Given the description of an element on the screen output the (x, y) to click on. 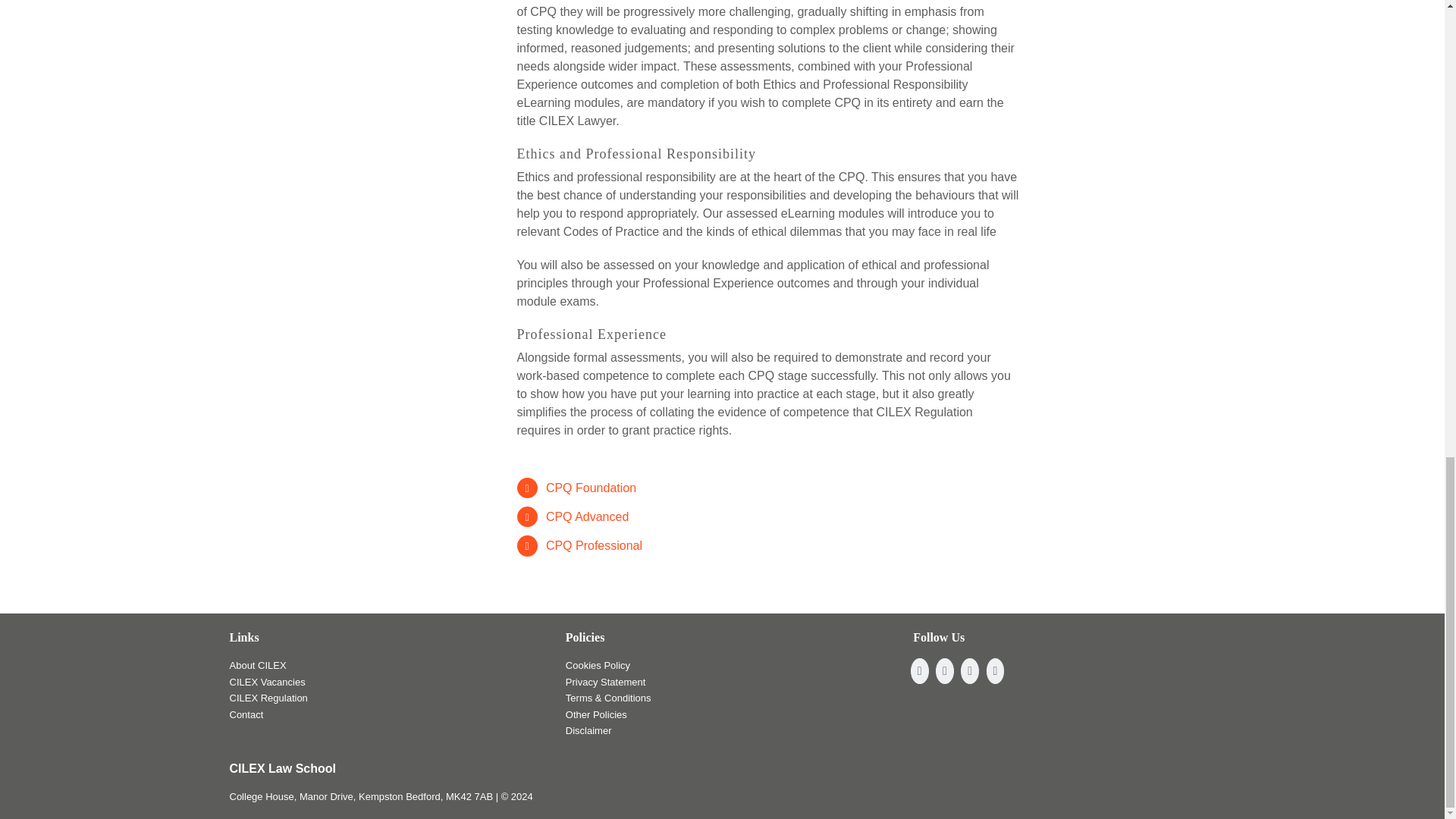
LinkedIn (995, 670)
Facebook (919, 670)
YouTube (969, 670)
Twitter (944, 670)
